Given the description of an element on the screen output the (x, y) to click on. 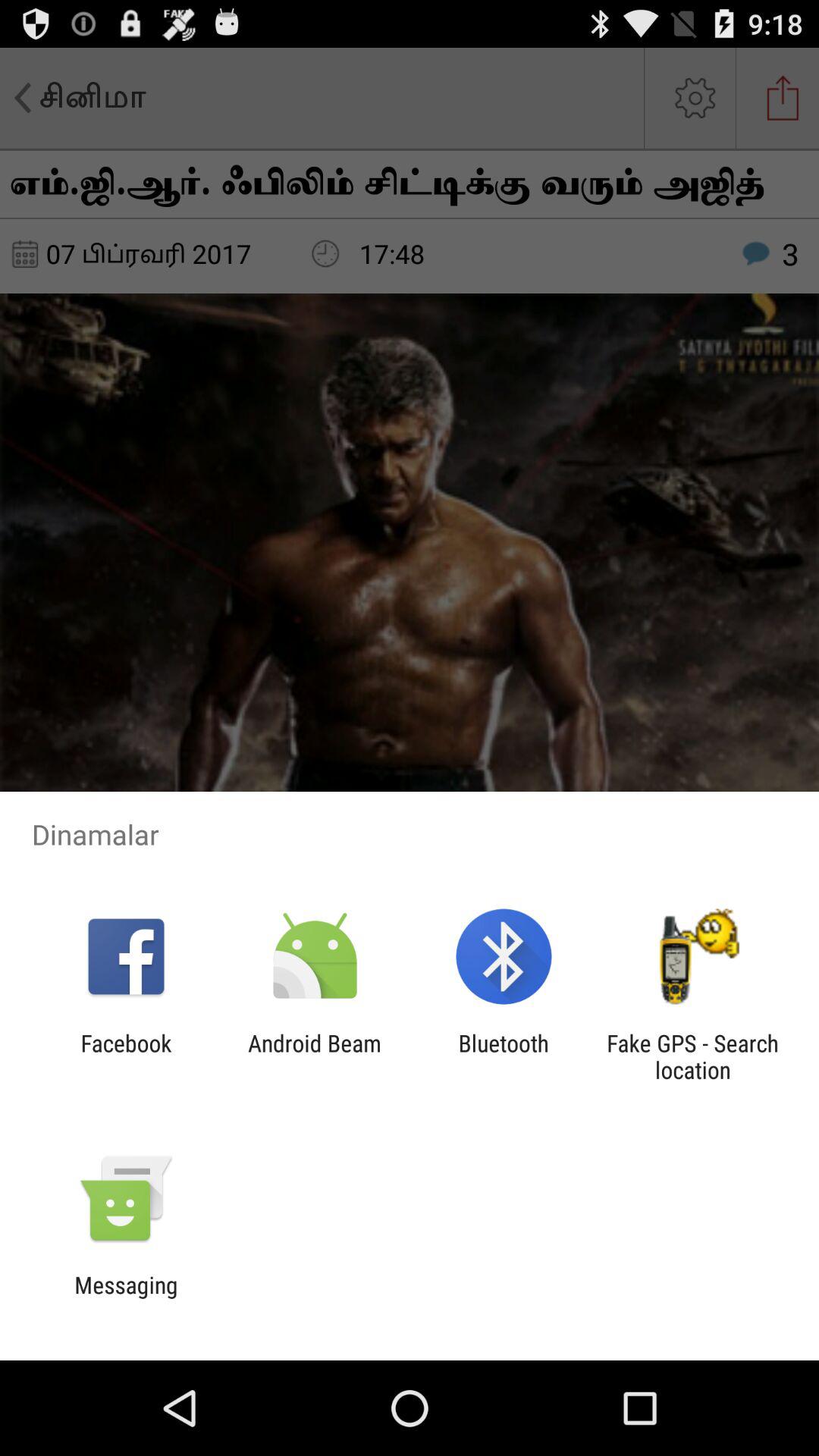
swipe to the bluetooth item (503, 1056)
